Given the description of an element on the screen output the (x, y) to click on. 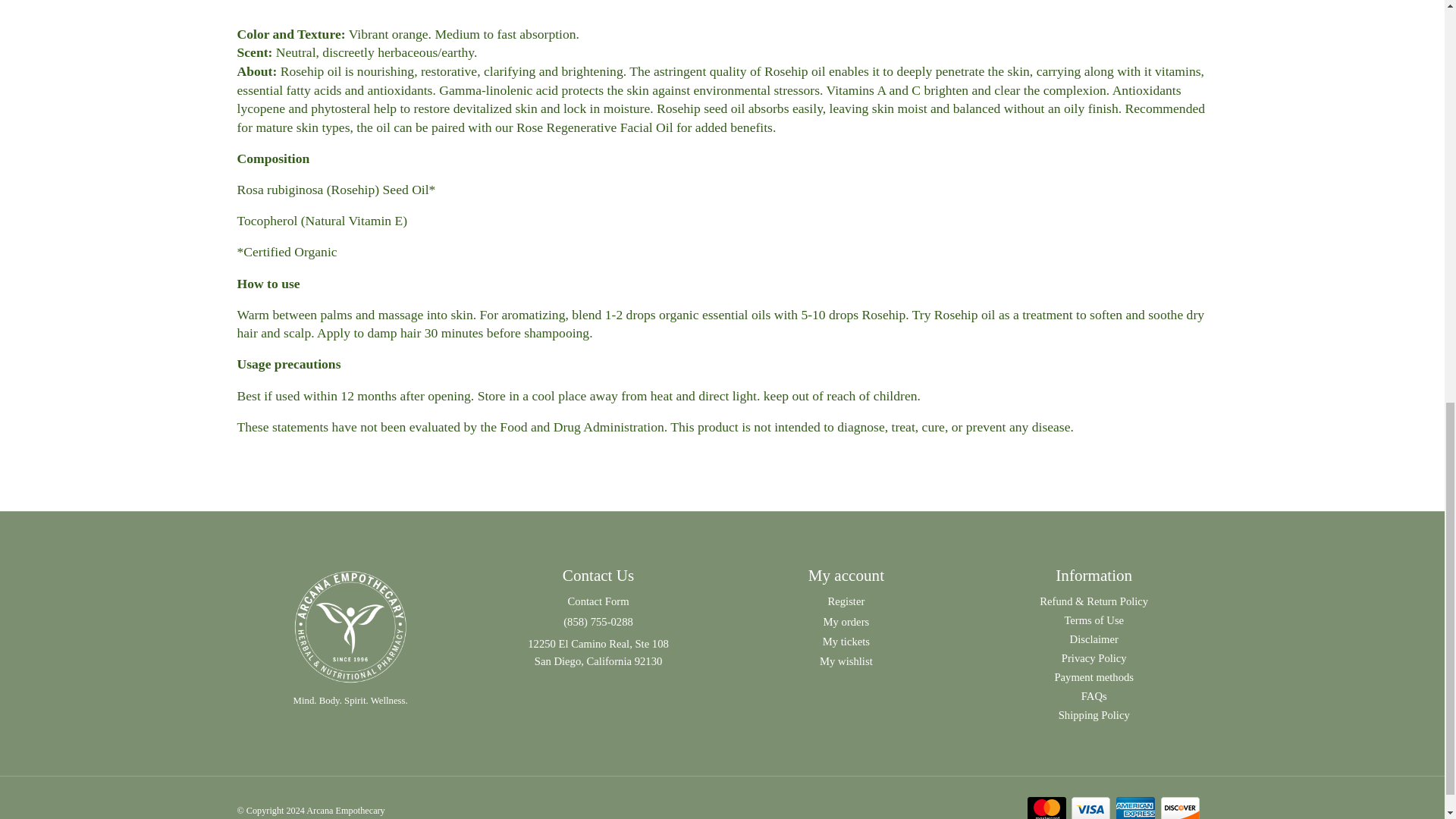
Terms of Use (1094, 620)
Payment methods (1094, 676)
My wishlist (845, 661)
My orders (846, 621)
Privacy Policy (1093, 658)
FAQs  (1093, 696)
Register (845, 601)
My tickets (845, 641)
Disclaimer (1094, 639)
